Given the description of an element on the screen output the (x, y) to click on. 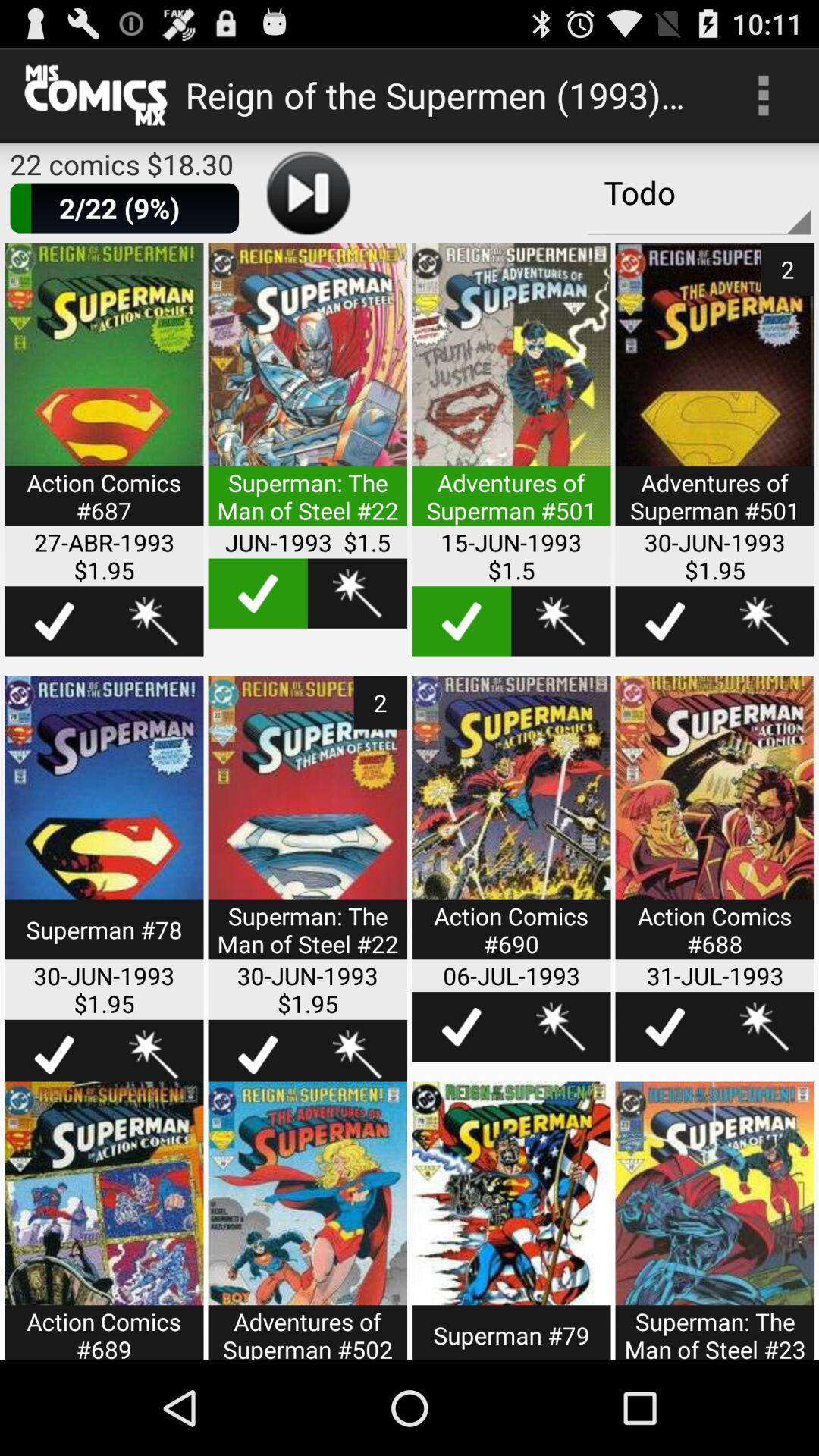
go to action comics 690 (510, 827)
